Given the description of an element on the screen output the (x, y) to click on. 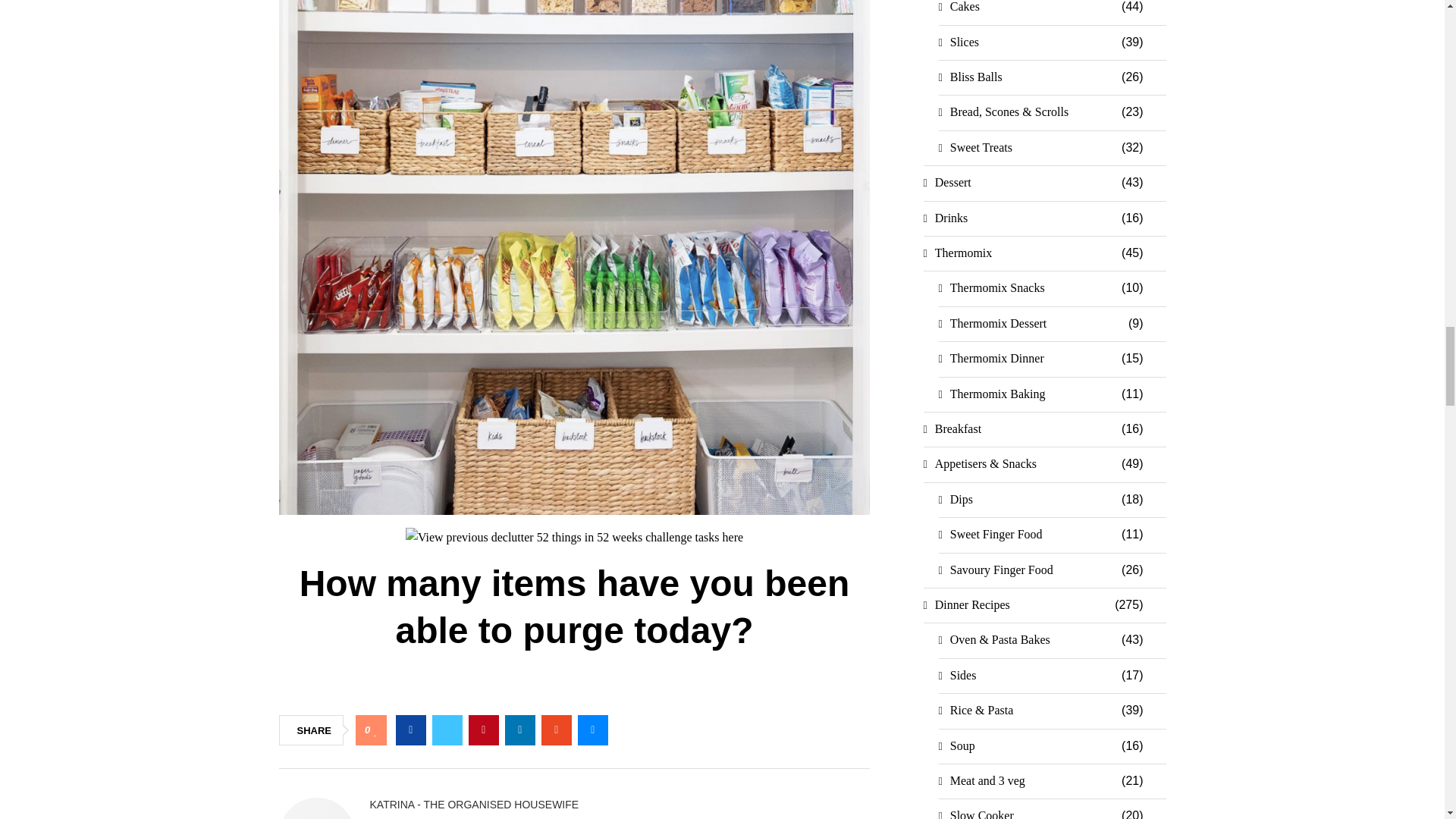
Author Katrina - The Organised Housewife (474, 804)
declutter your home in one year with easy weekly tasks (574, 537)
